Given the description of an element on the screen output the (x, y) to click on. 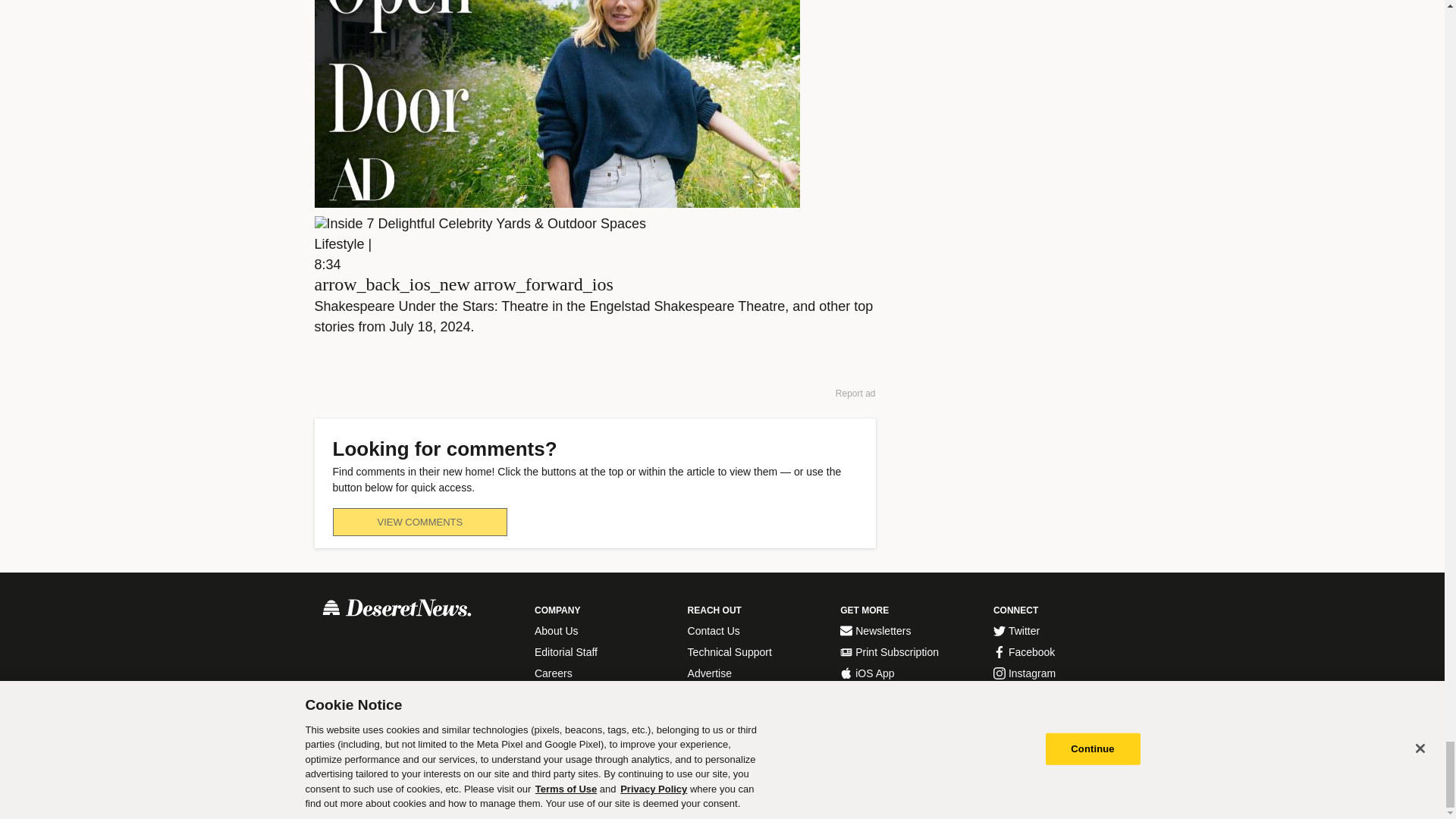
VIEW COMMENTS (418, 521)
Report ad (855, 393)
